Given the description of an element on the screen output the (x, y) to click on. 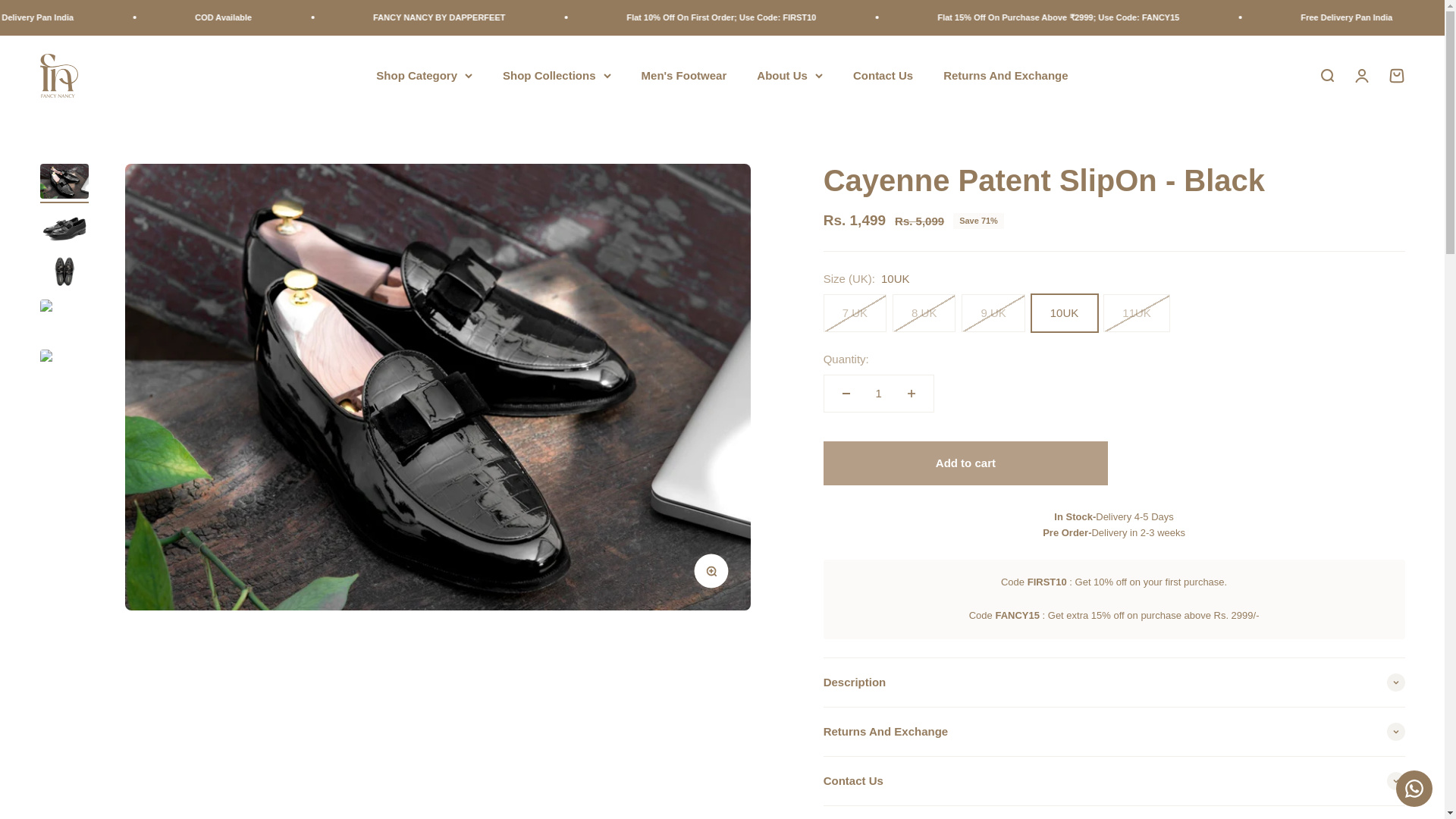
Open search (1396, 74)
10UK (1326, 74)
Returns And Exchange (684, 74)
Open account page (1005, 74)
9 UK (1361, 74)
